Given the description of an element on the screen output the (x, y) to click on. 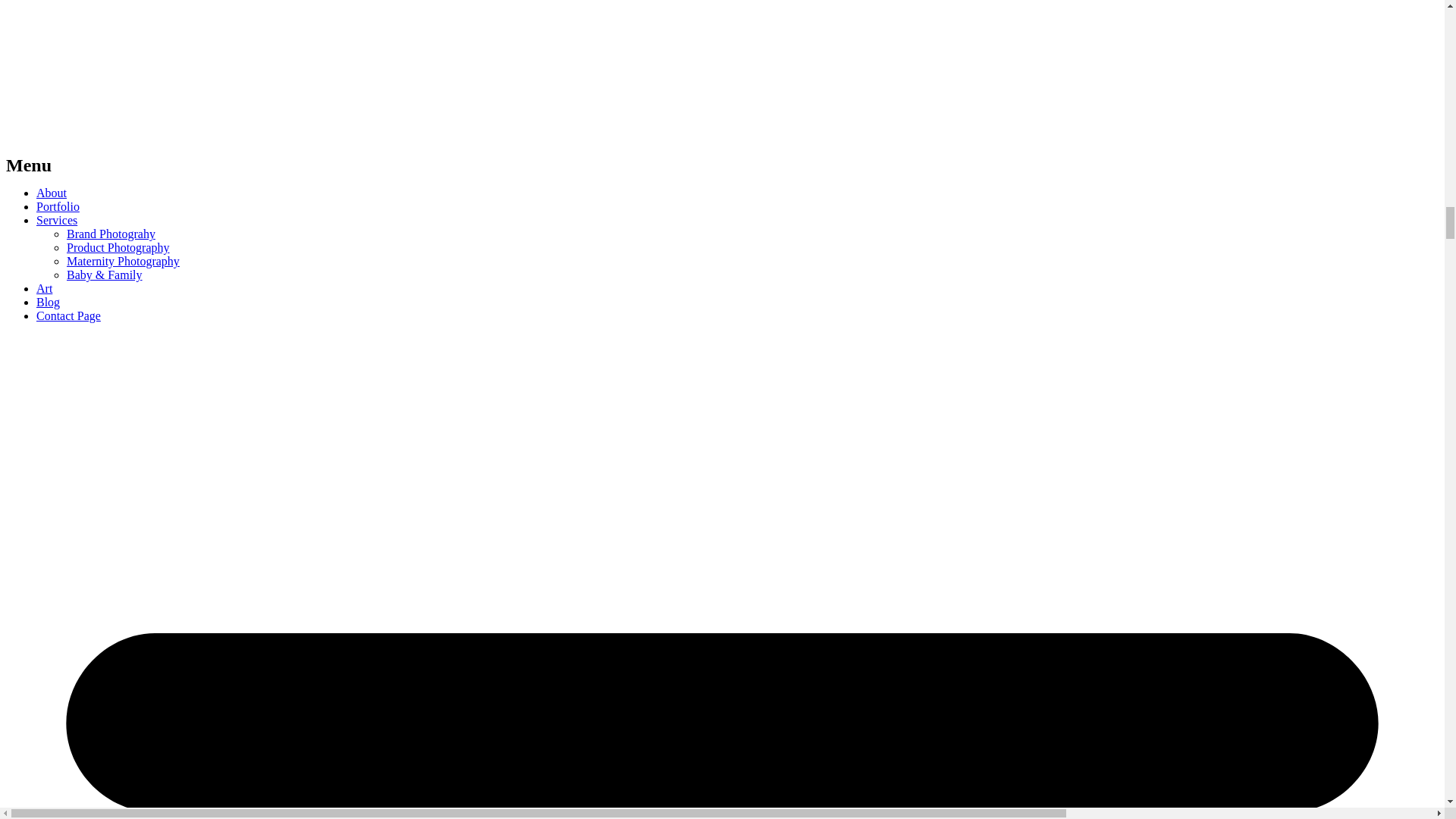
Blog (47, 301)
Product Photography (118, 246)
Art (44, 287)
About (51, 192)
Brand Photograhy (110, 233)
Services (56, 219)
Contact Page (68, 315)
Portfolio (58, 205)
Maternity Photography (122, 260)
